Given the description of an element on the screen output the (x, y) to click on. 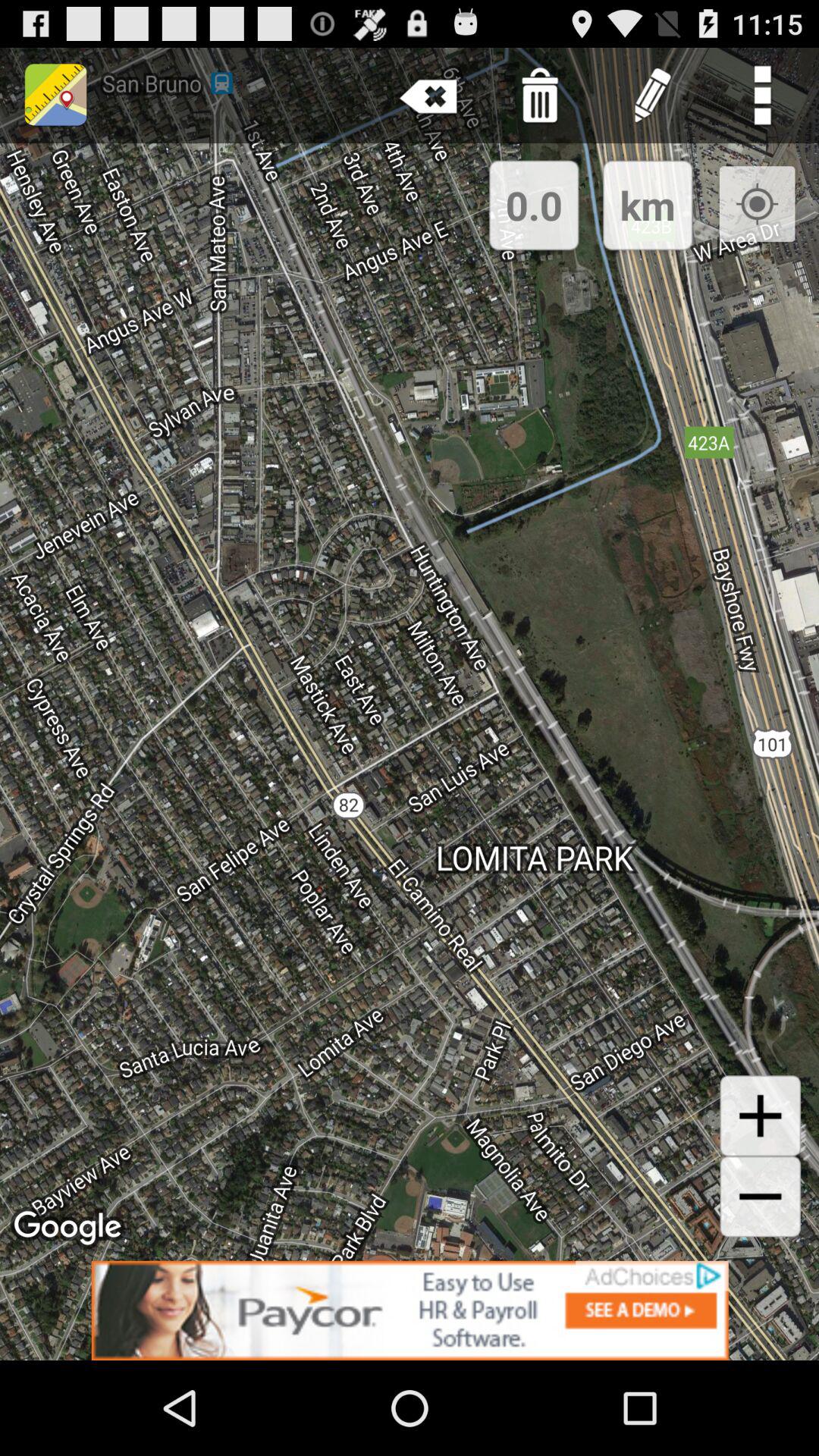
to zoom in on map (760, 1115)
